Given the description of an element on the screen output the (x, y) to click on. 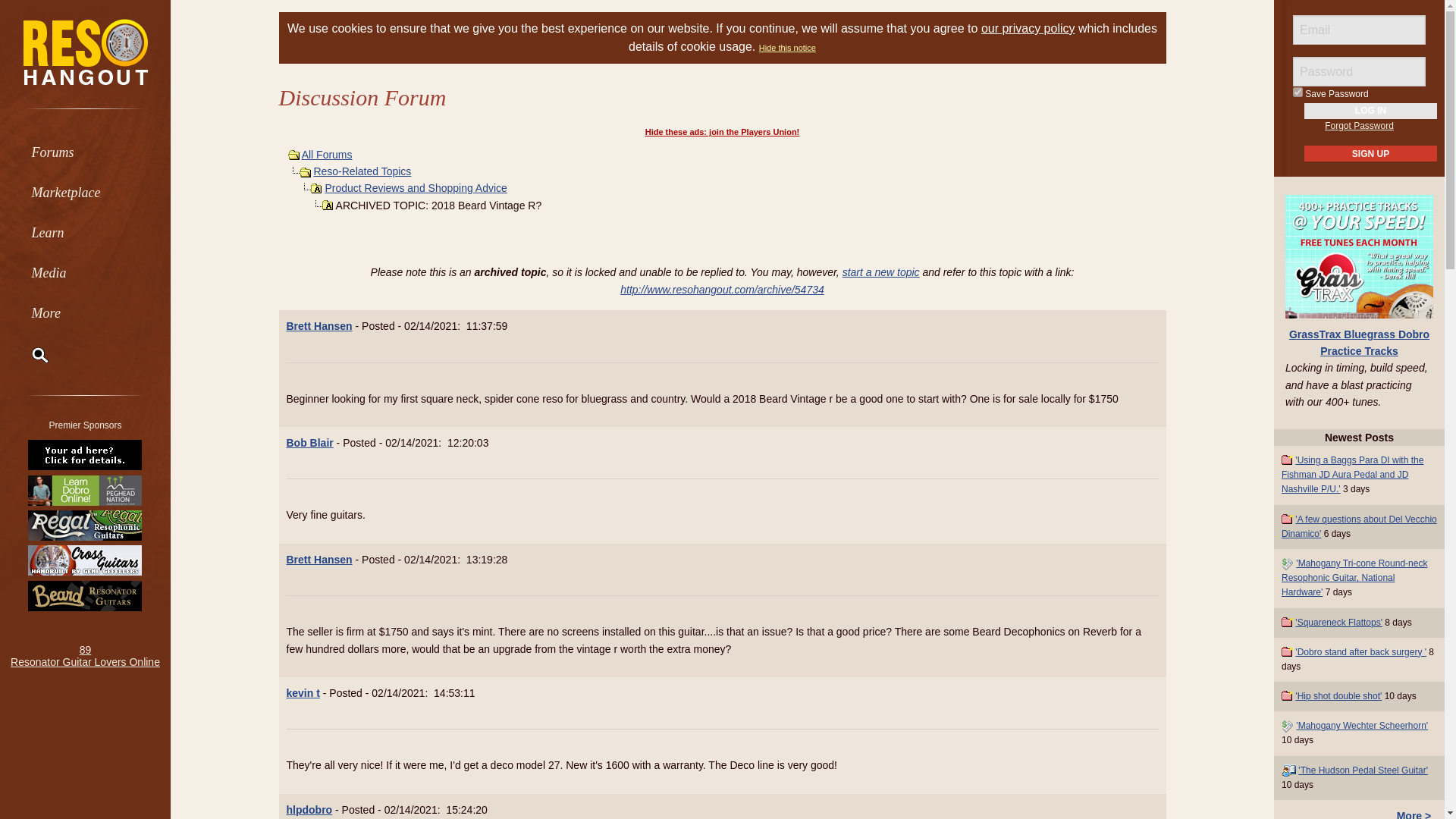
Sign Up (1370, 153)
Regal Resophonic Guitars (84, 524)
Beard Guitars (84, 595)
Log In (1370, 110)
Go to Home Page (85, 51)
Marketplace (85, 191)
Cross Guitars (84, 560)
Forums (85, 151)
Learn about Premier Sponsorship (84, 454)
Learn Dobro with Mike Witcher (84, 489)
